Given the description of an element on the screen output the (x, y) to click on. 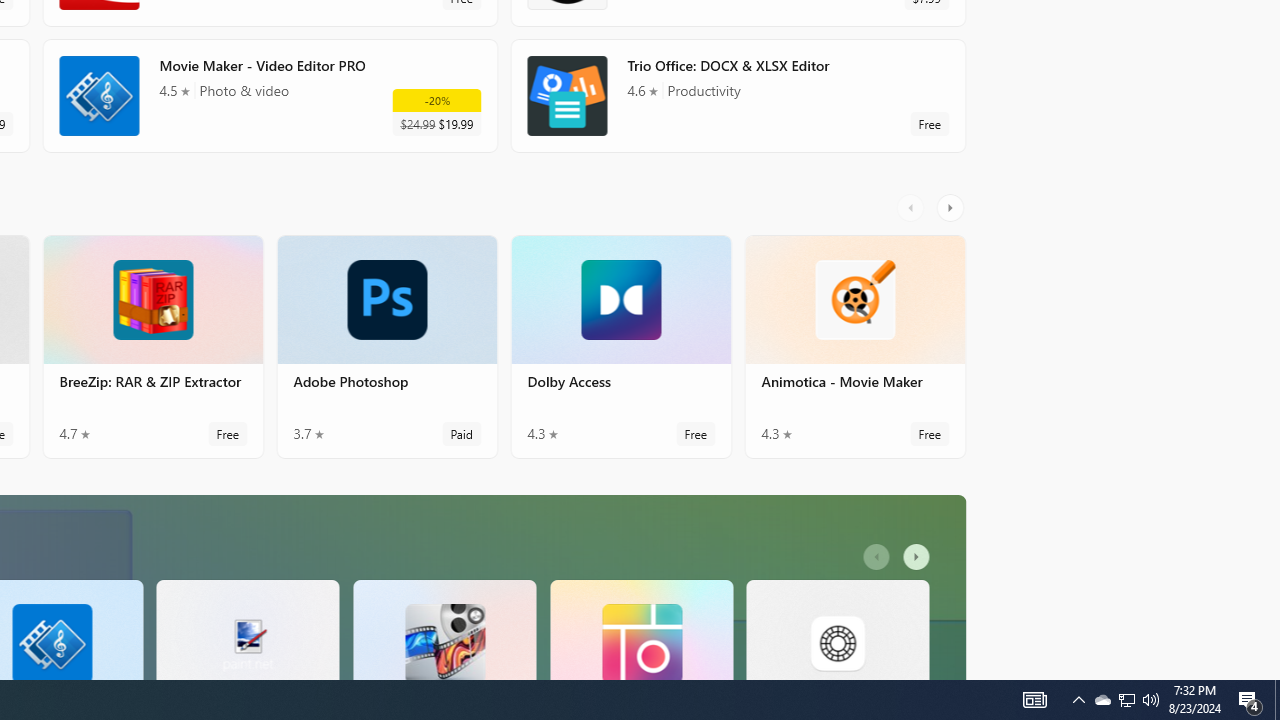
Pic Collage. Average rating of 4.8 out of five stars. Free   (641, 628)
AutomationID: LeftScrollButton (878, 557)
AutomationID: RightScrollButton (919, 557)
